Given the description of an element on the screen output the (x, y) to click on. 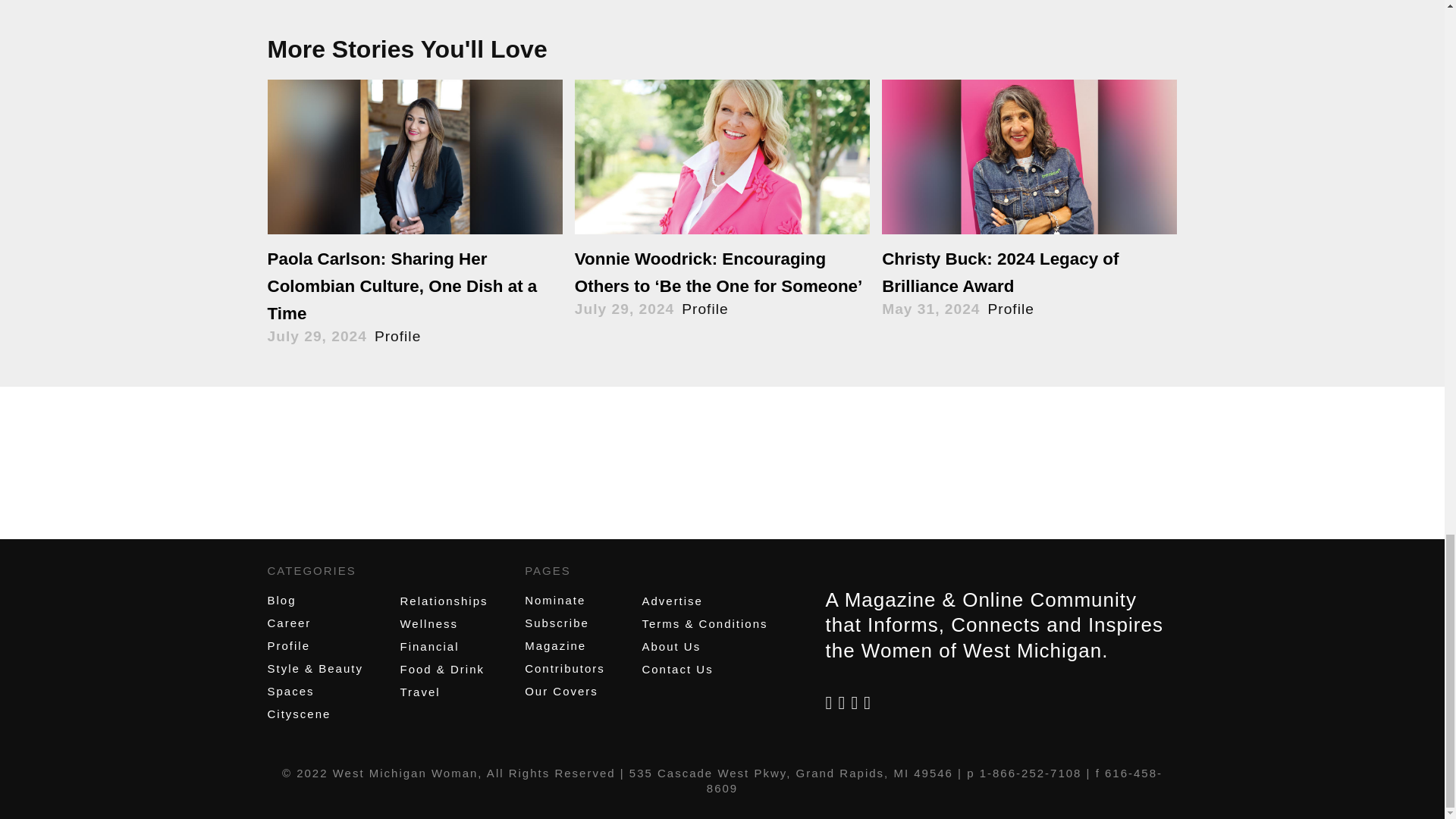
Spaces (290, 690)
3rd party ad content (721, 477)
Relationships (442, 600)
Wellness (428, 623)
Career (288, 622)
Profile (288, 645)
Cityscene (298, 713)
Blog (280, 599)
